Given the description of an element on the screen output the (x, y) to click on. 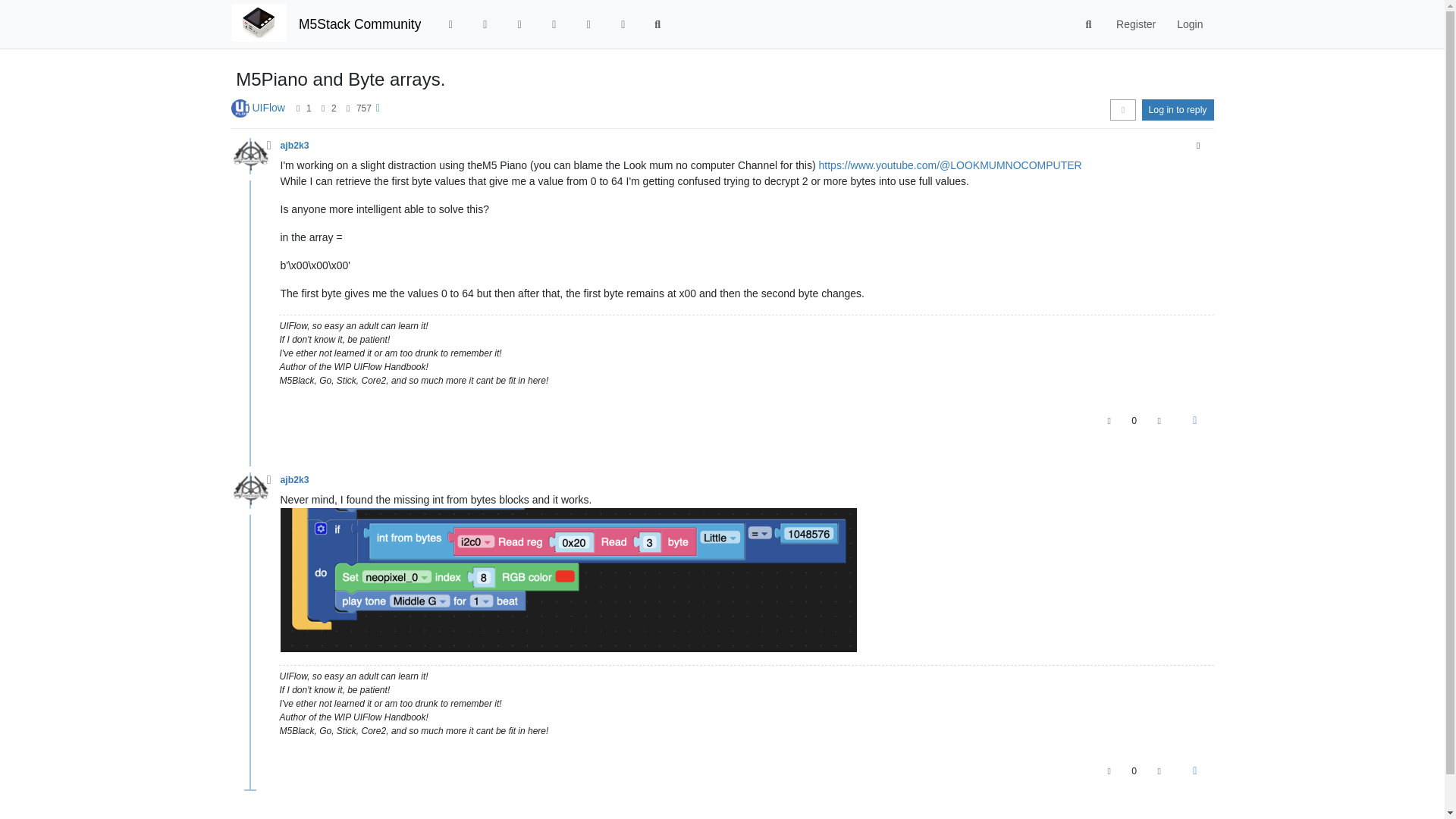
ajb2k3 (294, 145)
Search (1088, 24)
Views (347, 108)
Log in to reply (1177, 109)
Tags (519, 24)
Login (1189, 24)
Recent (484, 24)
UIFlow (268, 107)
M5Stack Community (359, 24)
Categories (449, 24)
Posts (323, 108)
Register (1135, 24)
Popular (554, 24)
Users (587, 24)
Groups (622, 24)
